Given the description of an element on the screen output the (x, y) to click on. 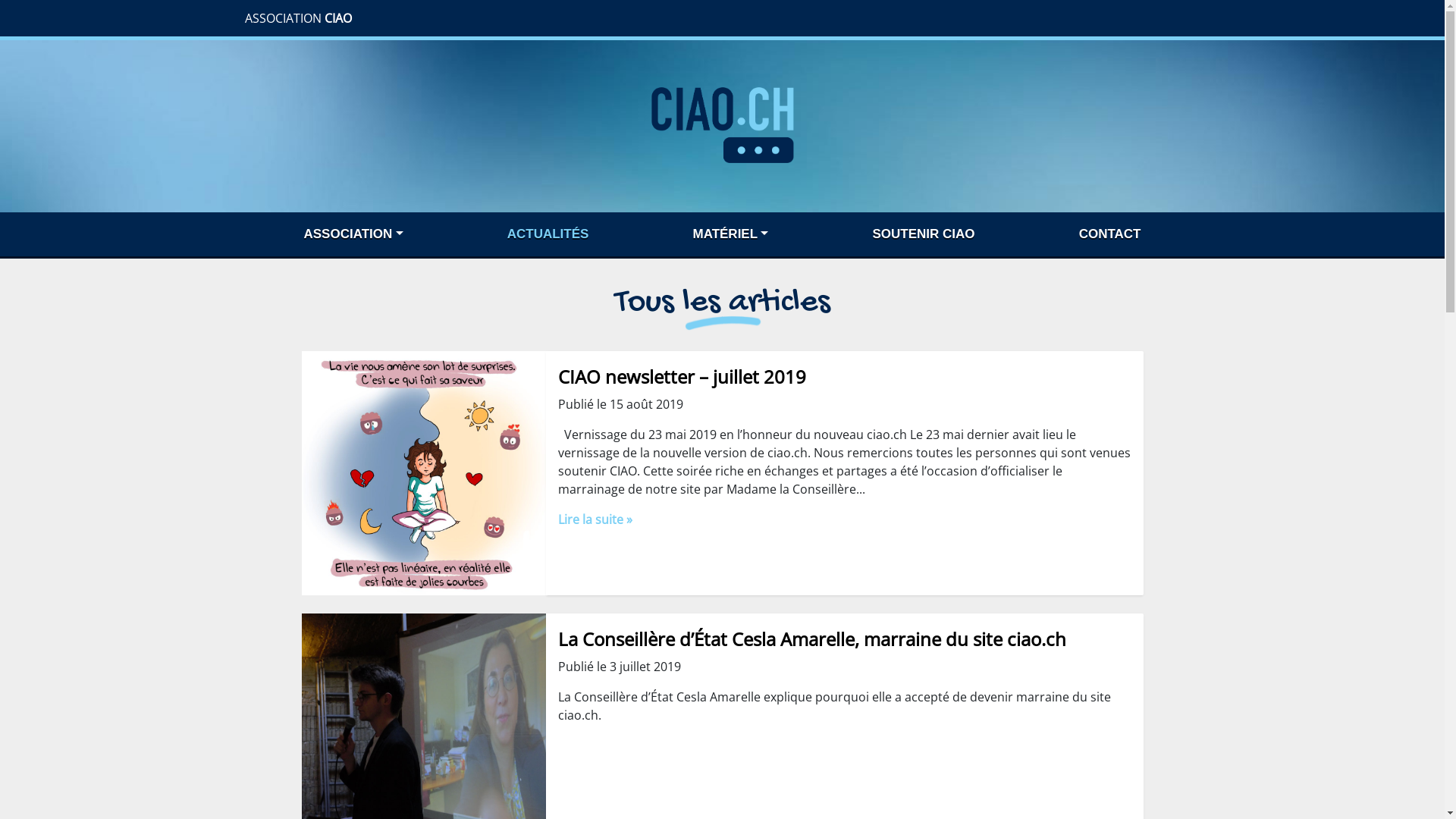
ASSOCIATION CIAO Element type: text (297, 17)
CONTACT Element type: text (1110, 234)
SOUTENIR CIAO Element type: text (923, 234)
ASSOCIATION Element type: text (352, 234)
